Given the description of an element on the screen output the (x, y) to click on. 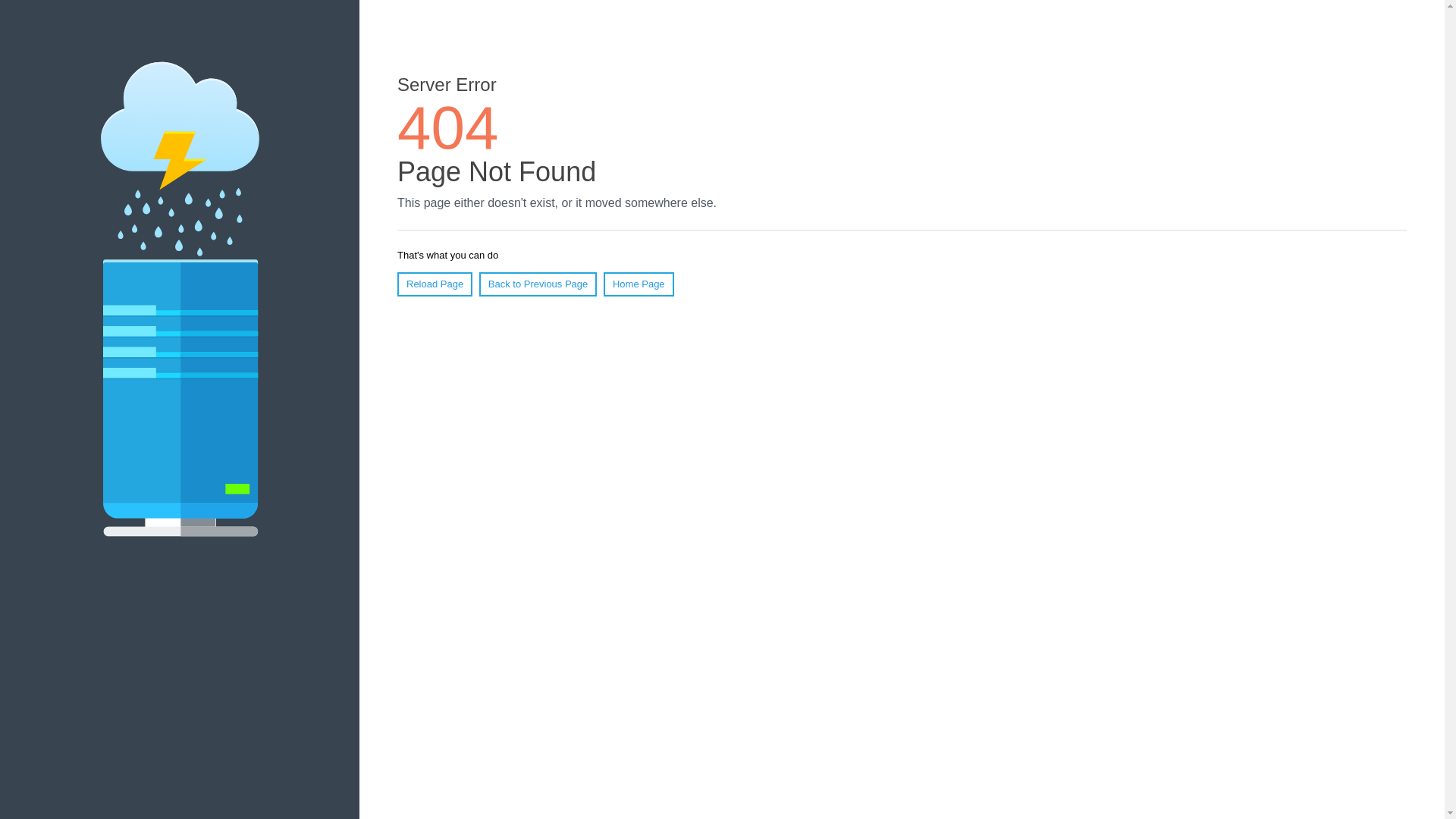
Back to Previous Page Element type: text (538, 284)
Reload Page Element type: text (434, 284)
Home Page Element type: text (638, 284)
